Given the description of an element on the screen output the (x, y) to click on. 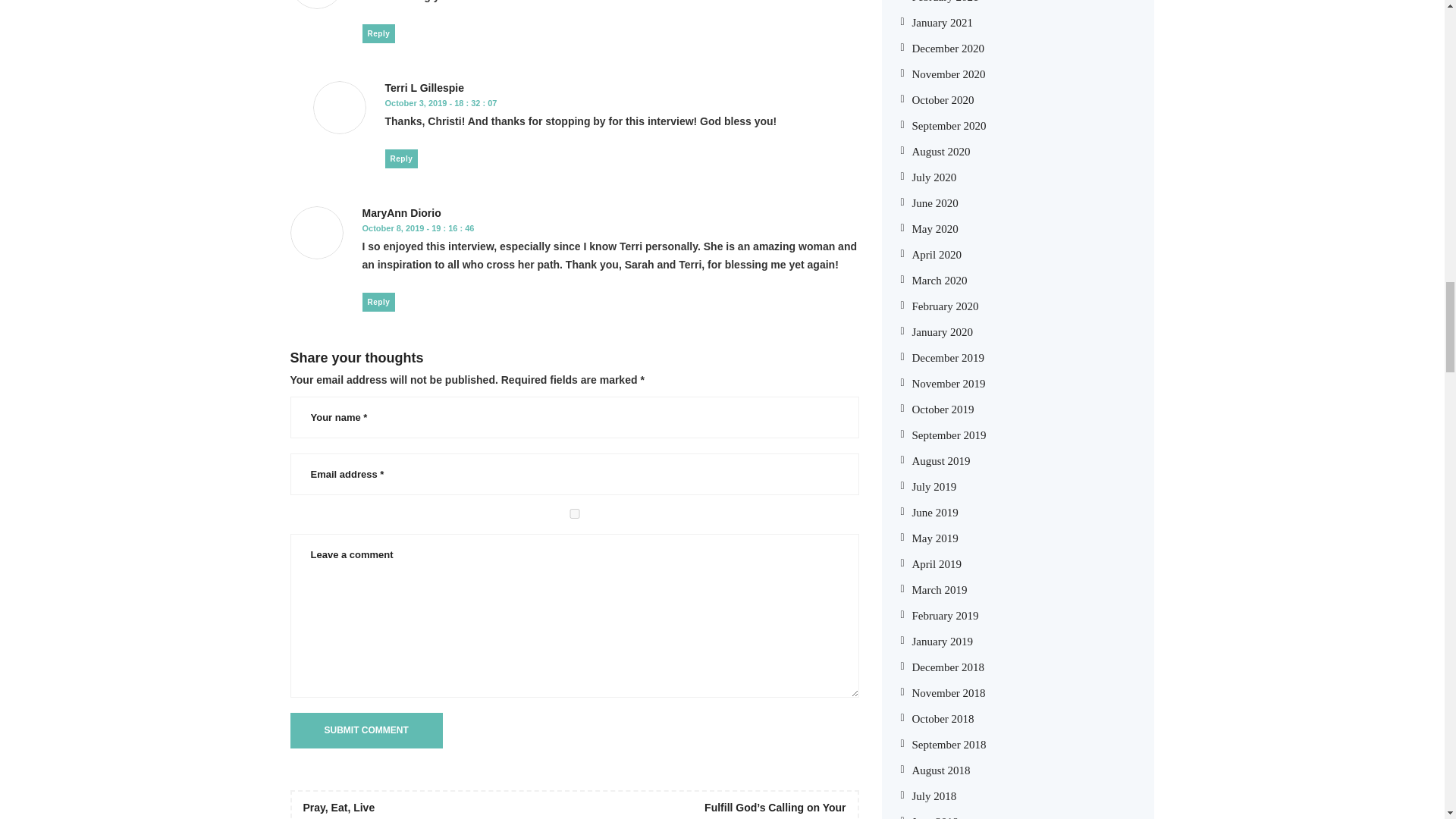
Submit Comment (365, 730)
Reply (379, 302)
Pray, Eat, Live (338, 807)
yes (574, 513)
Reply (402, 158)
Reply (379, 33)
Submit Comment (365, 730)
